Given the description of an element on the screen output the (x, y) to click on. 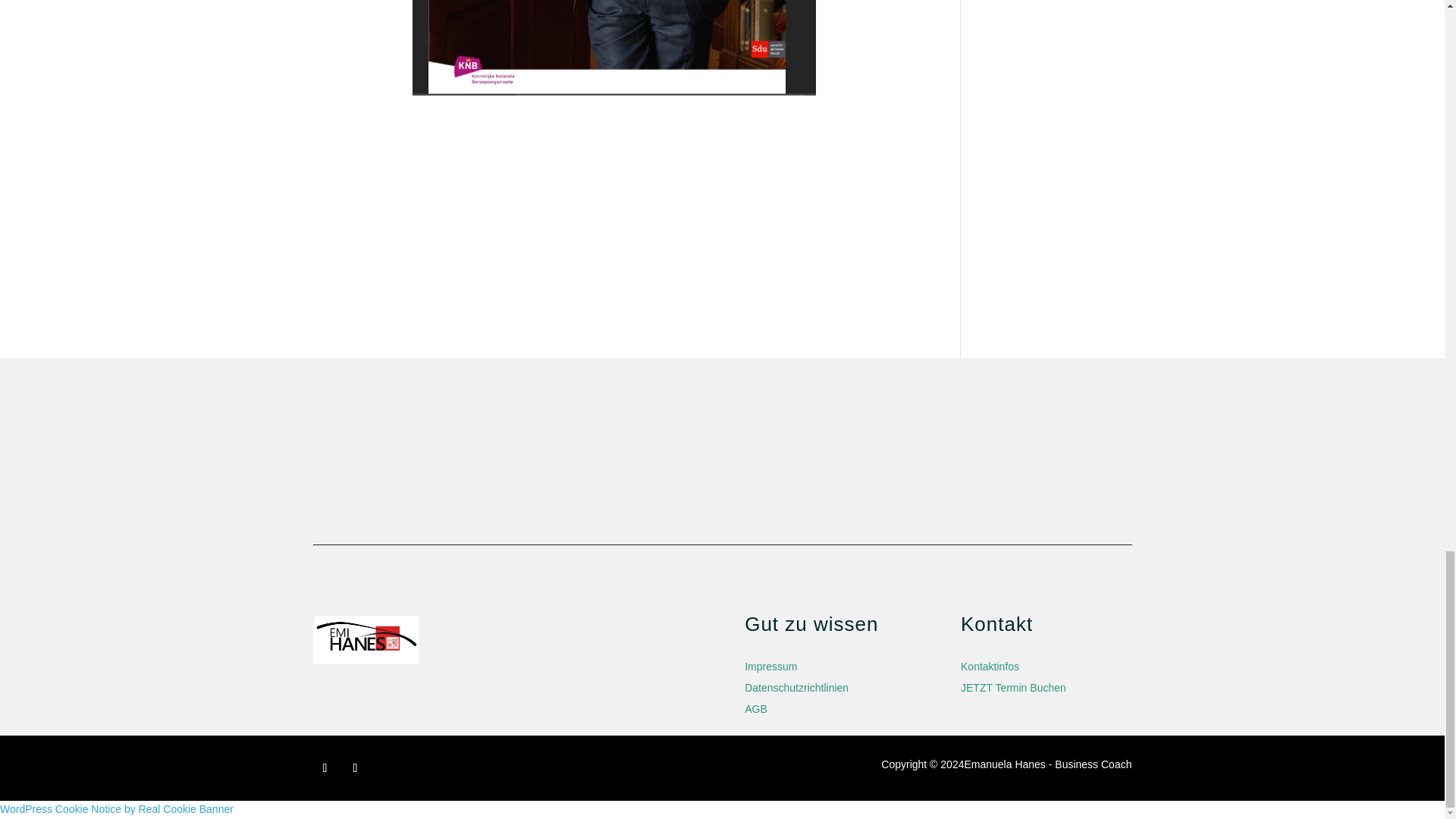
AGB (755, 708)
Follow on Facebook (324, 767)
Follow on LinkedIn (354, 767)
foto victor meijers (614, 47)
Kontaktinfos (989, 666)
Impressum (770, 666)
JETZT Termin Buchen (1012, 687)
Datenschutzrichtlinien (796, 687)
WordPress Cookie Notice by Real Cookie Banner (116, 808)
